Given the description of an element on the screen output the (x, y) to click on. 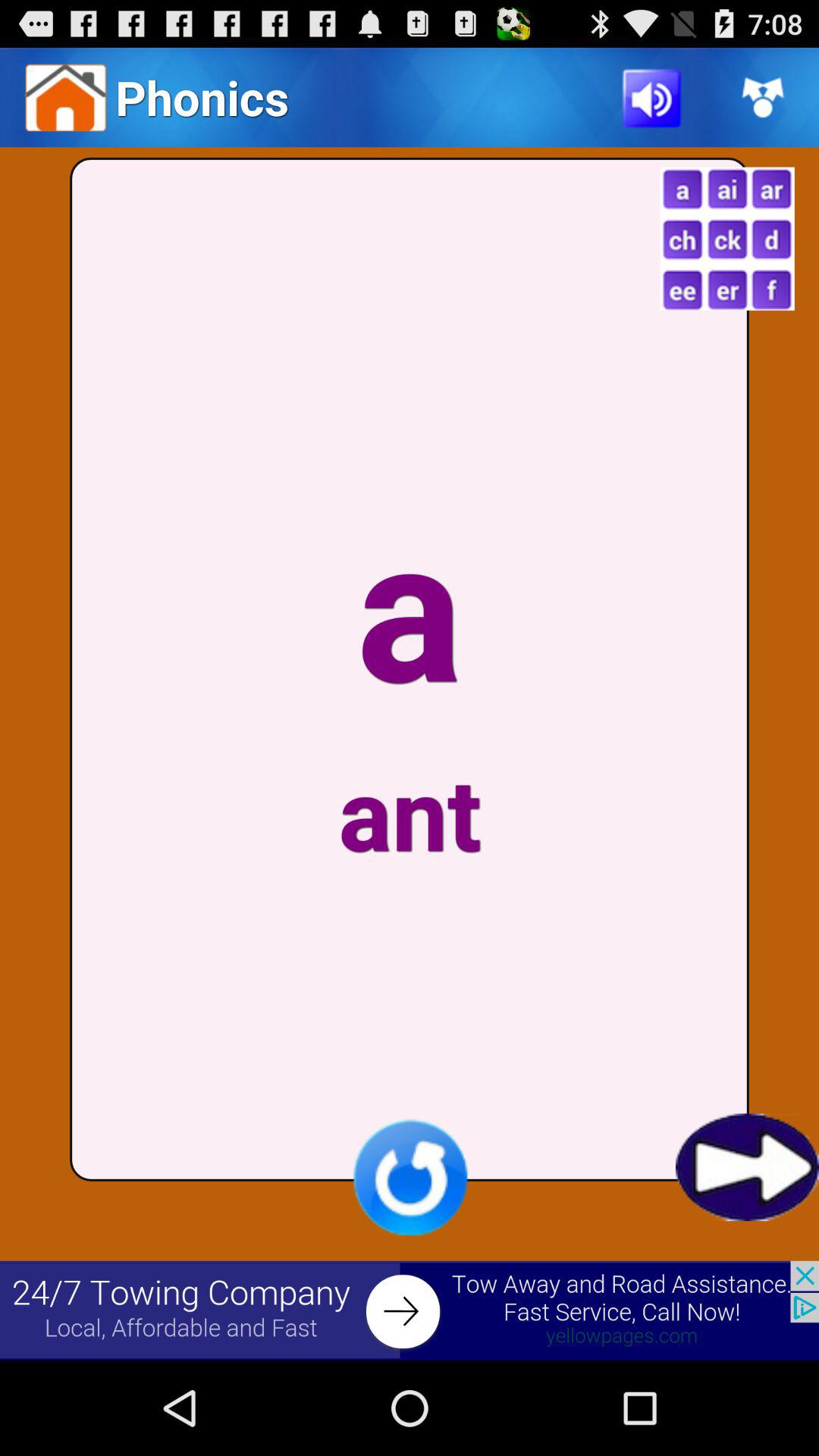
forward page (747, 1167)
